Given the description of an element on the screen output the (x, y) to click on. 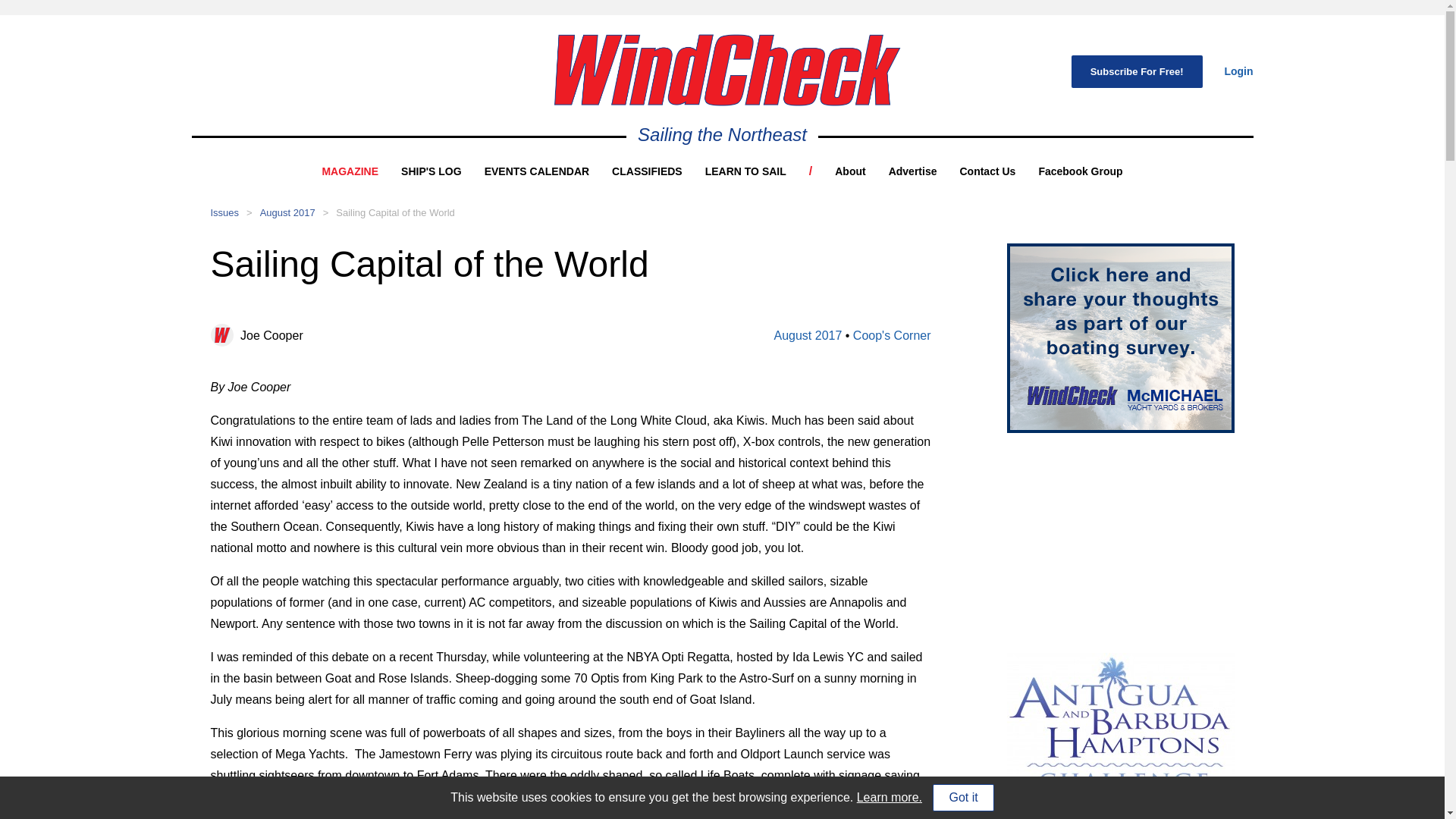
August 2017 (807, 335)
Contact Us (986, 171)
About (849, 171)
Go to Sailing Capital of the World. (395, 212)
Joe Cooper (271, 335)
August 2017 (287, 212)
Coop's Corner (892, 335)
LEARN TO SAIL (745, 171)
CLASSIFIEDS (646, 171)
WindCheck Magazine (727, 70)
Issues (225, 212)
SHIP'S LOG (431, 171)
EVENTS CALENDAR (536, 171)
Sailing Capital of the World (395, 212)
Go to the August 2017 Issue archives. (287, 212)
